Given the description of an element on the screen output the (x, y) to click on. 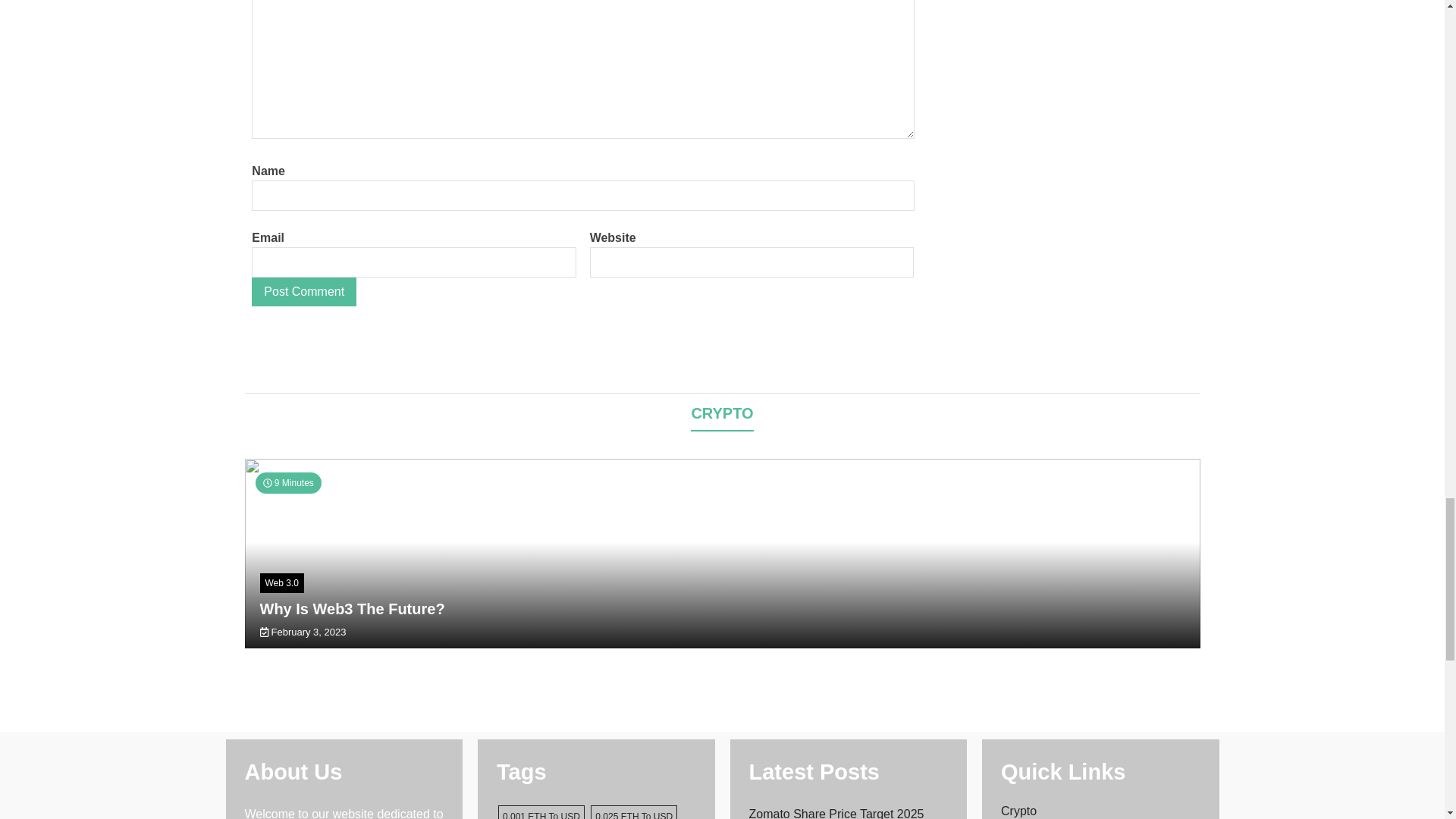
Post Comment (303, 291)
Estimated Reading Time of Article (287, 482)
